Given the description of an element on the screen output the (x, y) to click on. 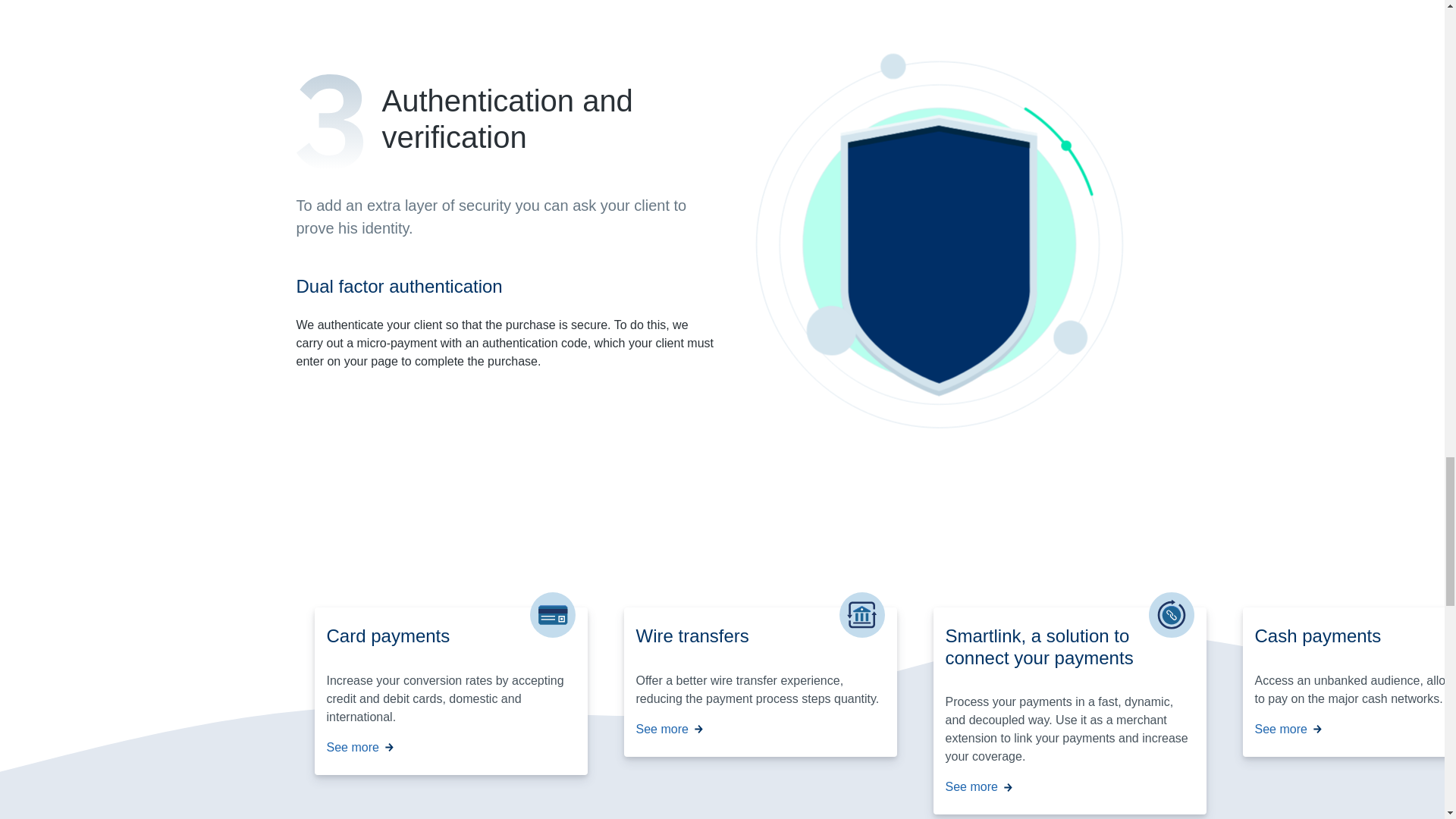
See more (359, 747)
See more (1286, 728)
See more (977, 786)
See more (667, 728)
